Given the description of an element on the screen output the (x, y) to click on. 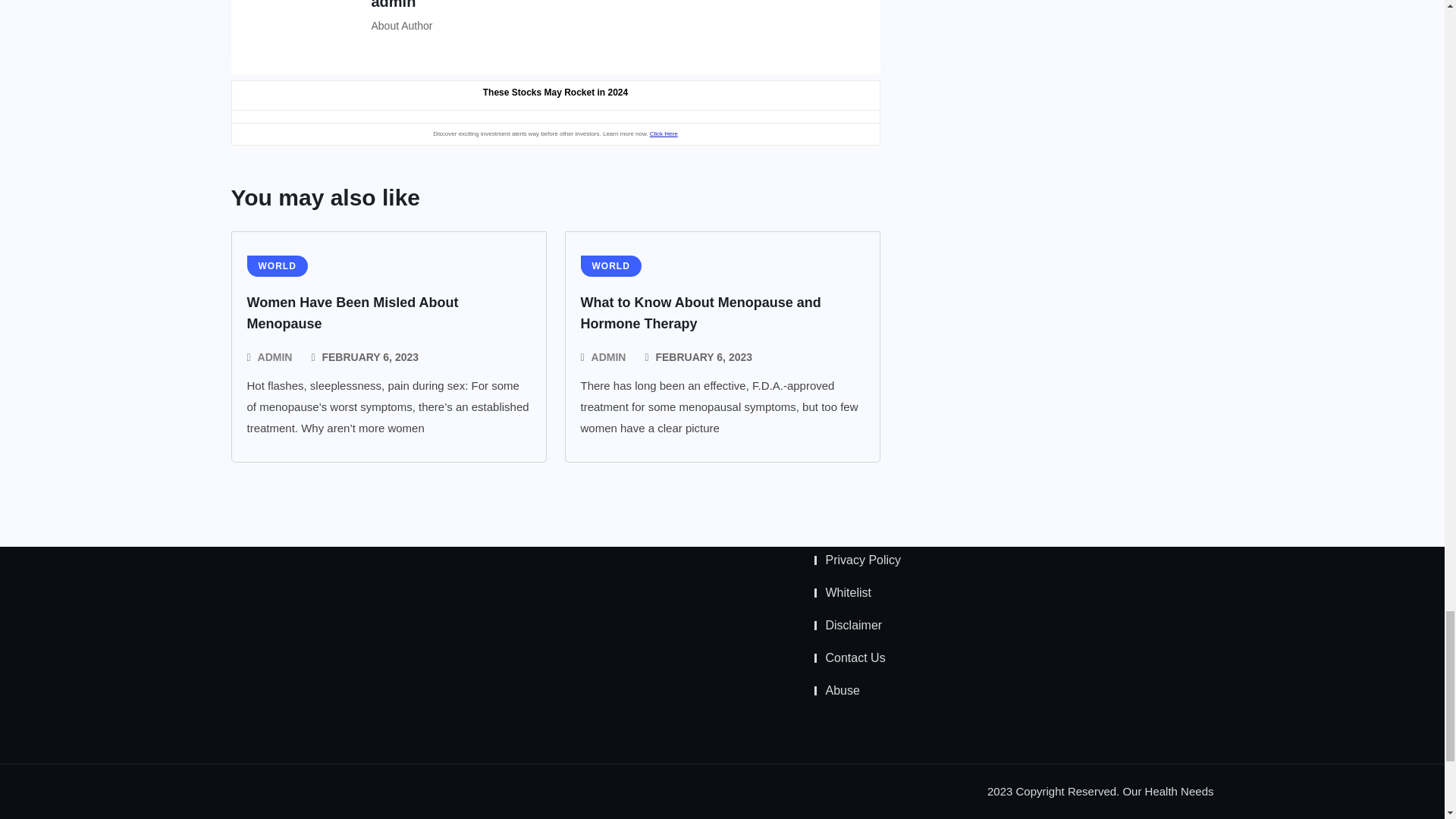
Posts by admin (274, 356)
Posts by admin (608, 356)
